Given the description of an element on the screen output the (x, y) to click on. 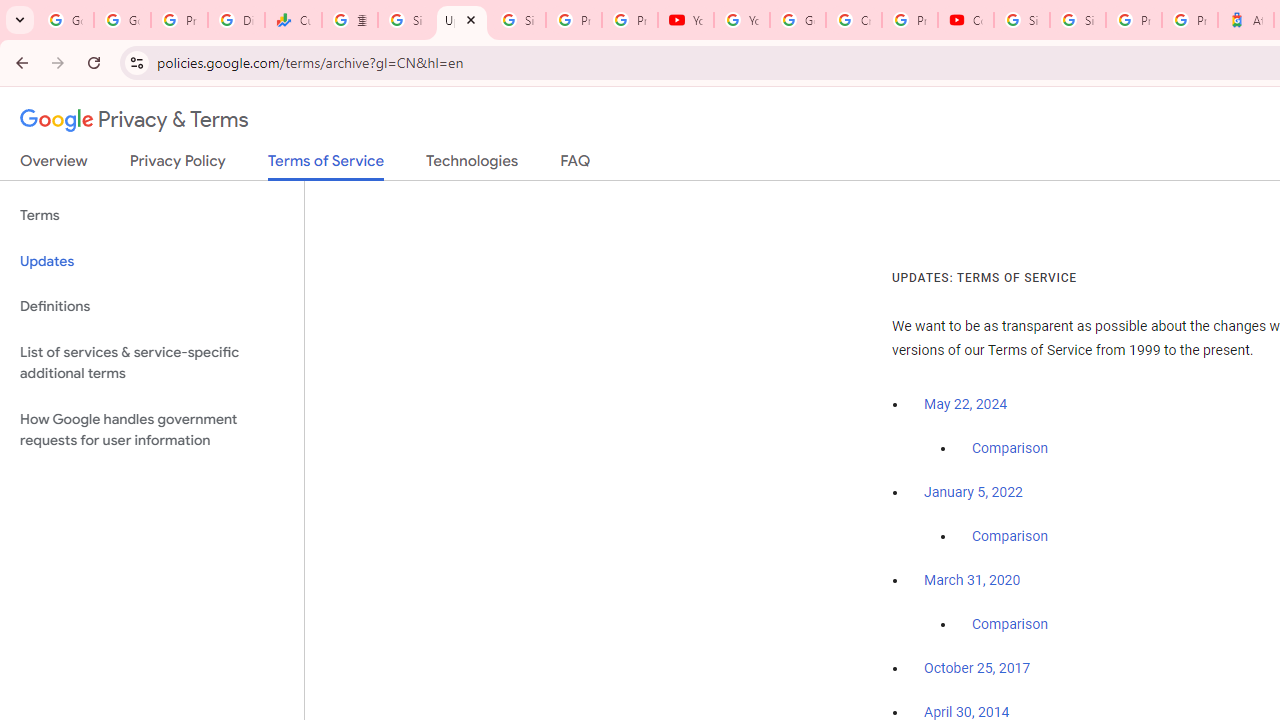
Google Account Help (797, 20)
Create your Google Account (853, 20)
Definitions (152, 306)
Sign in - Google Accounts (1077, 20)
Sign in - Google Accounts (518, 20)
Sign in - Google Accounts (1021, 20)
How Google handles government requests for user information (152, 429)
